Given the description of an element on the screen output the (x, y) to click on. 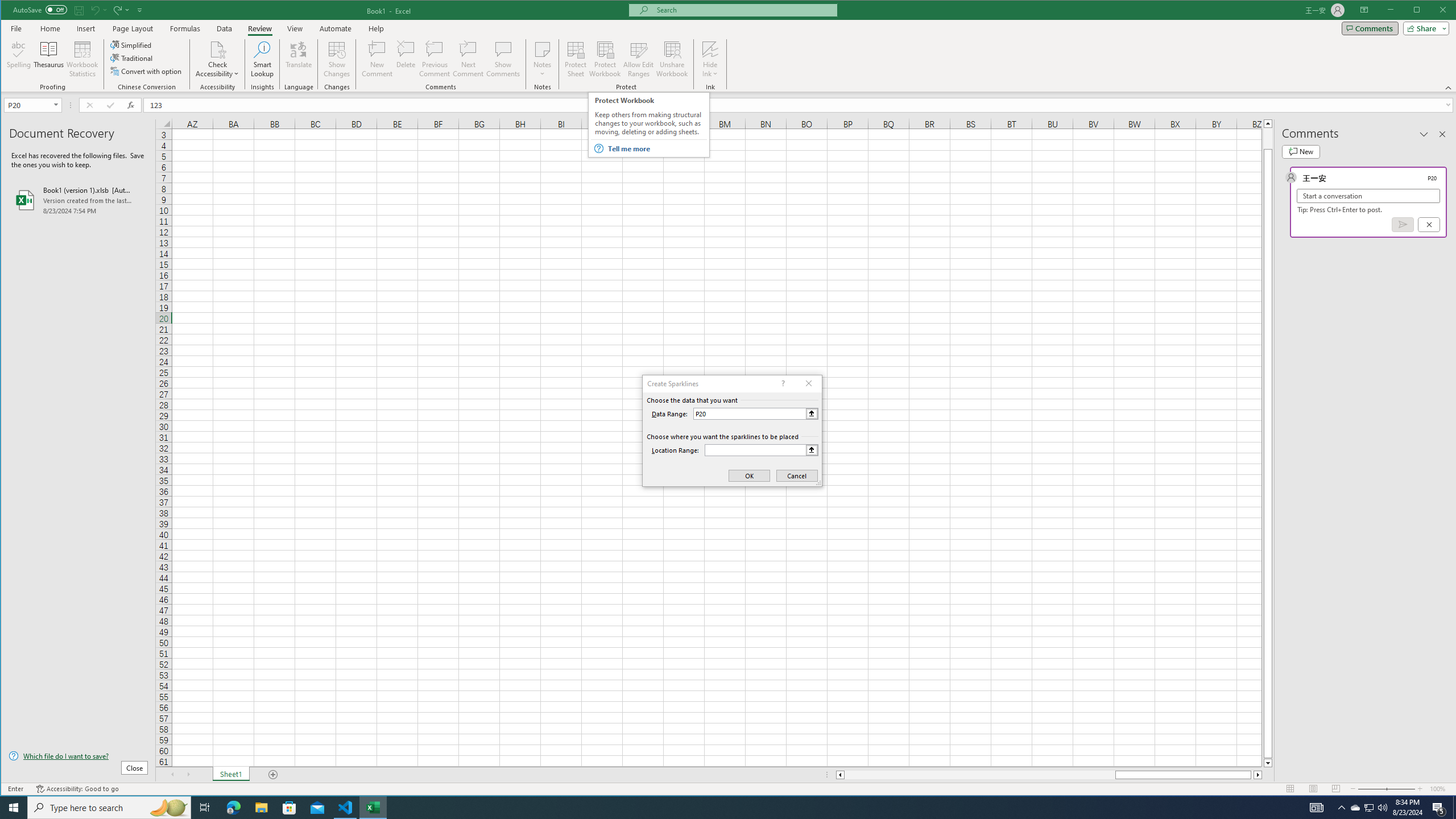
Spelling... (18, 59)
Next Comment (467, 59)
Class: NetUIImage (598, 148)
Page left (979, 774)
New Comment (377, 59)
Automate (336, 28)
Microsoft search (742, 10)
